Given the description of an element on the screen output the (x, y) to click on. 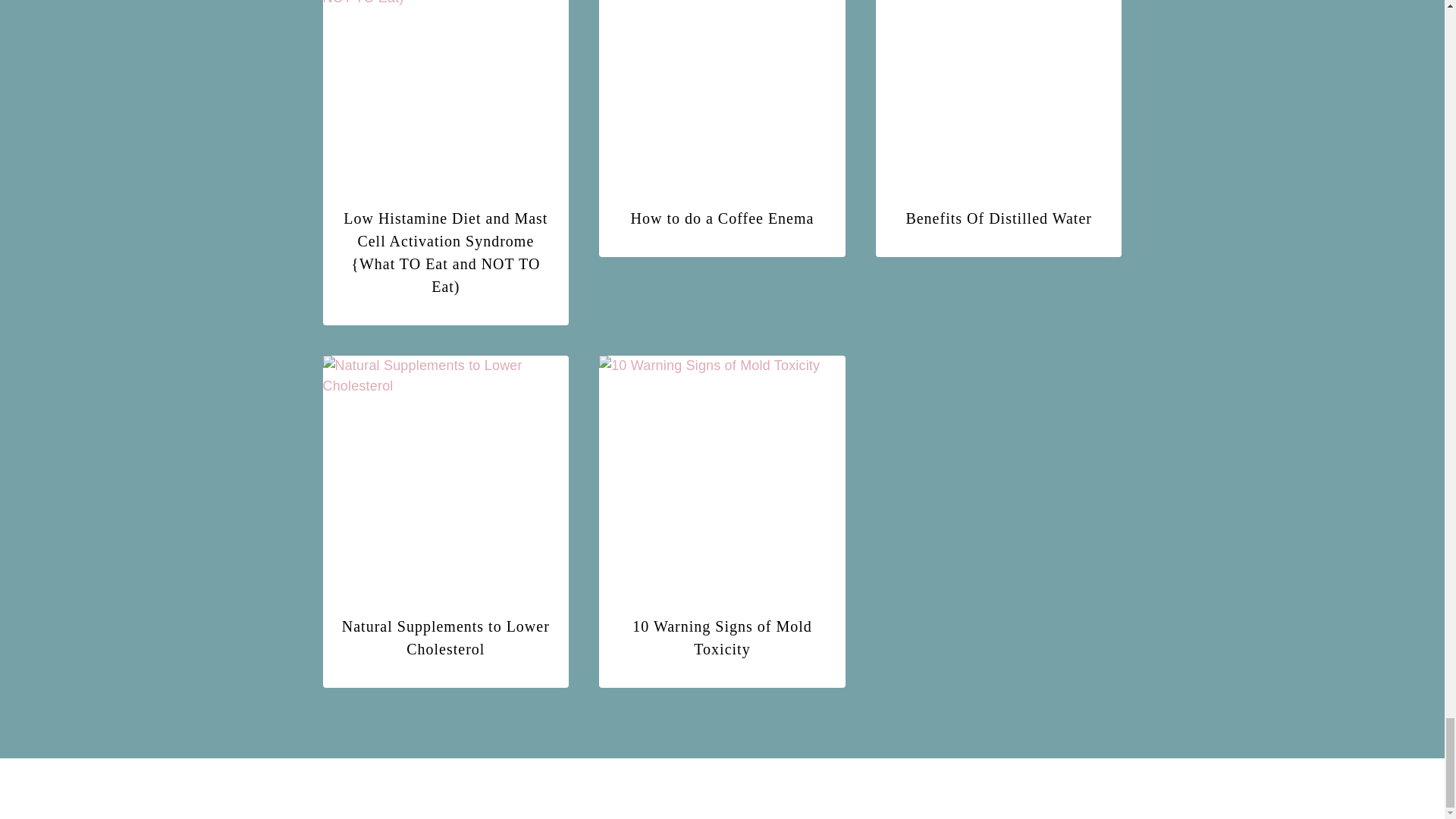
How to do a Coffee Enema (721, 217)
Benefits Of Distilled Water (998, 217)
Natural Supplements to Lower Cholesterol (446, 637)
